Given the description of an element on the screen output the (x, y) to click on. 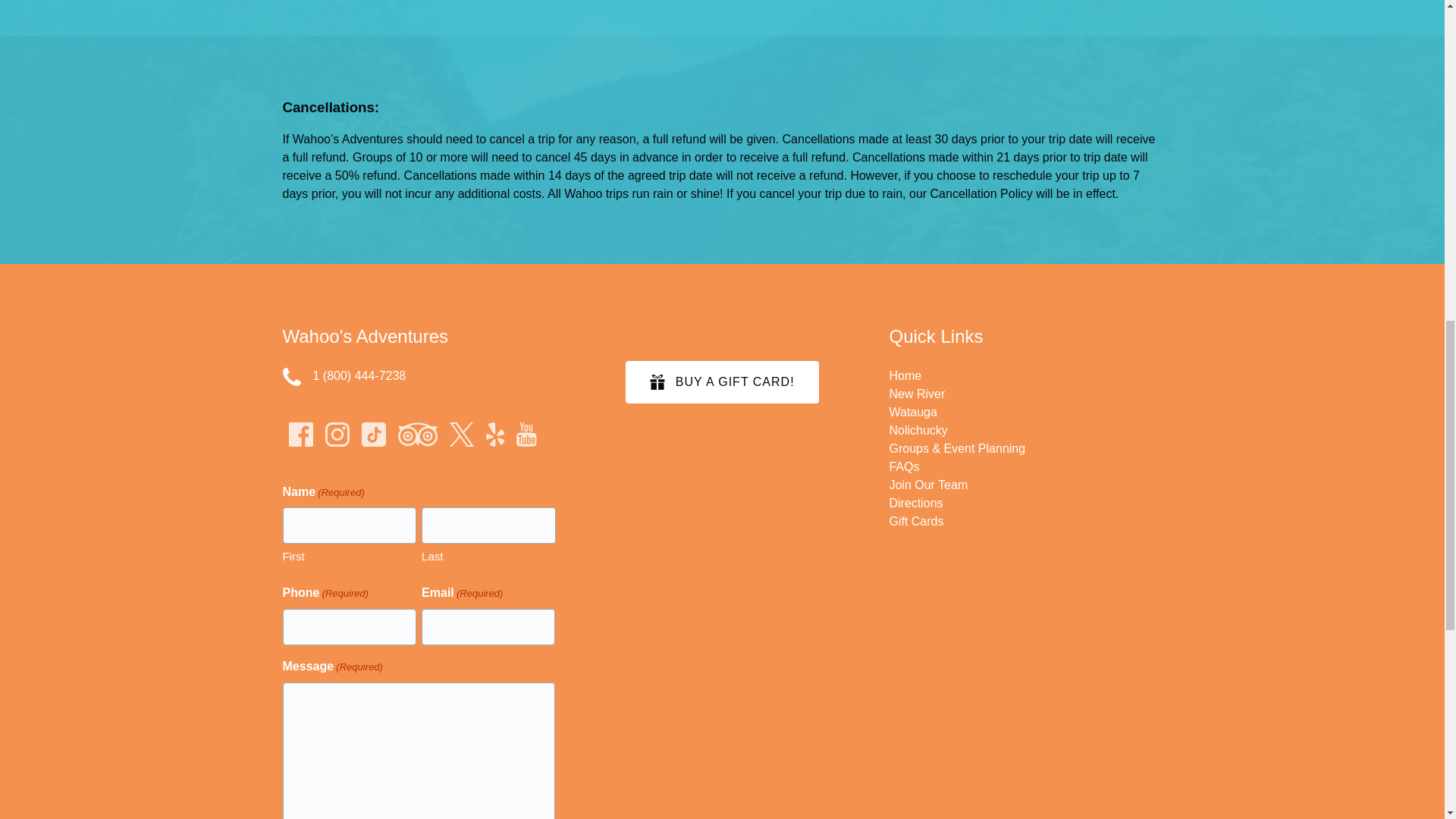
Phone (290, 376)
GIFT (657, 381)
